Given the description of an element on the screen output the (x, y) to click on. 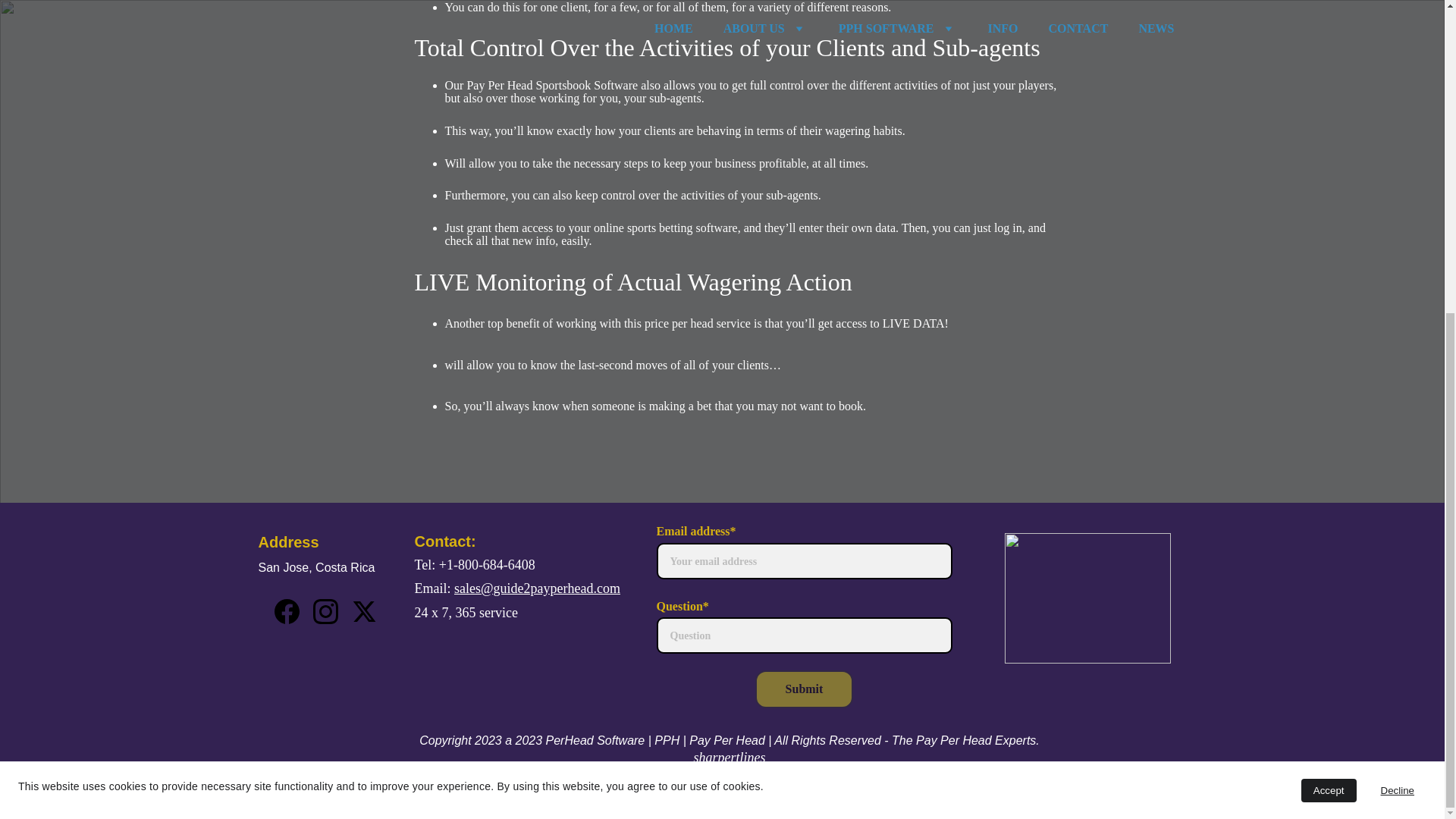
Go to Instagram page (325, 611)
Decline (1397, 290)
Go to Facebook page (287, 611)
Submit (804, 689)
Go to Twitter page (364, 611)
Accept (1328, 290)
